Given the description of an element on the screen output the (x, y) to click on. 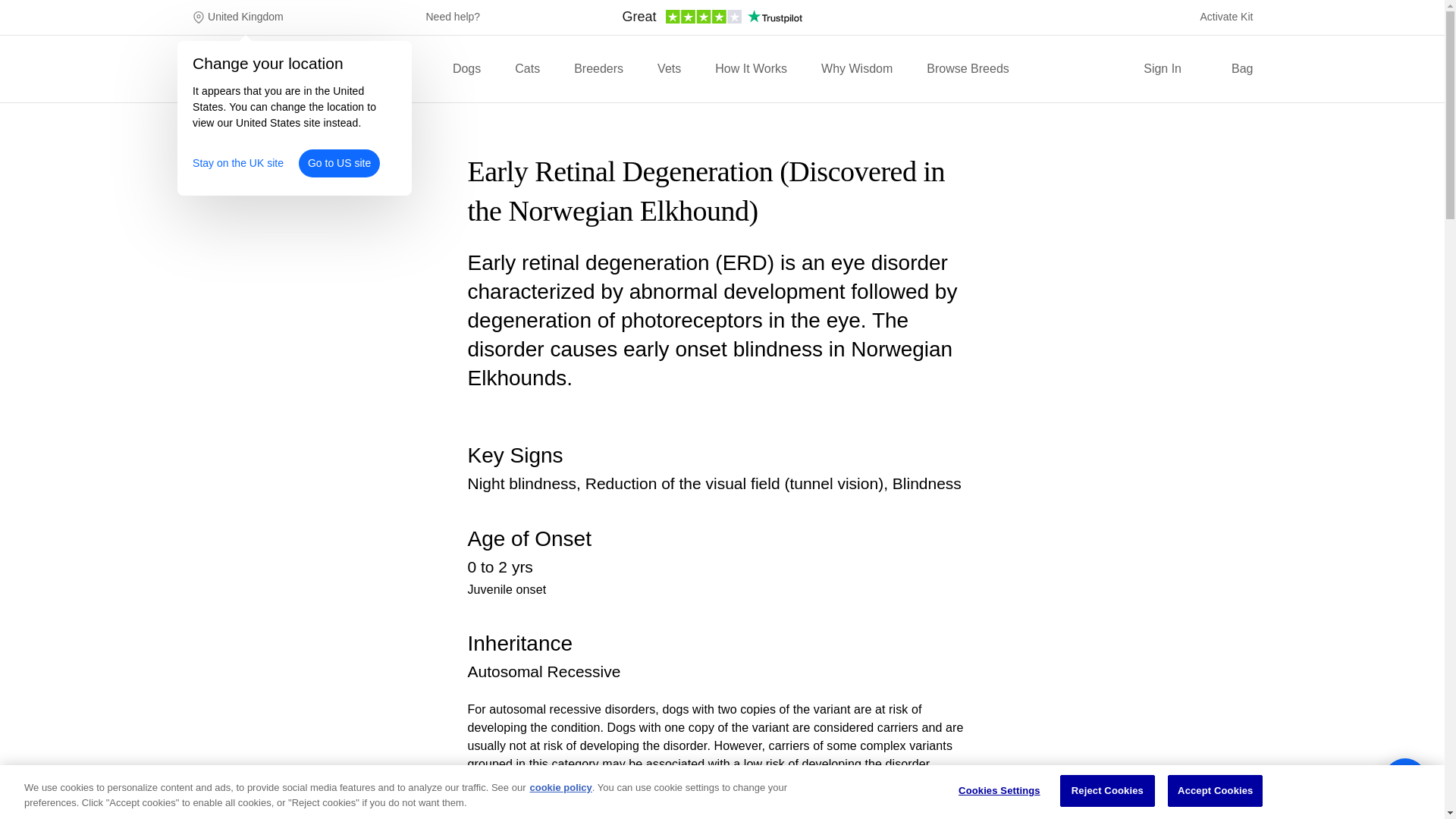
Customer reviews powered by Trustpilot (711, 22)
Activate Kit (1225, 16)
Go to US site (339, 163)
Stay on the UK site (237, 163)
Bag (1231, 68)
Sign In (1161, 68)
Need help? (453, 16)
